Given the description of an element on the screen output the (x, y) to click on. 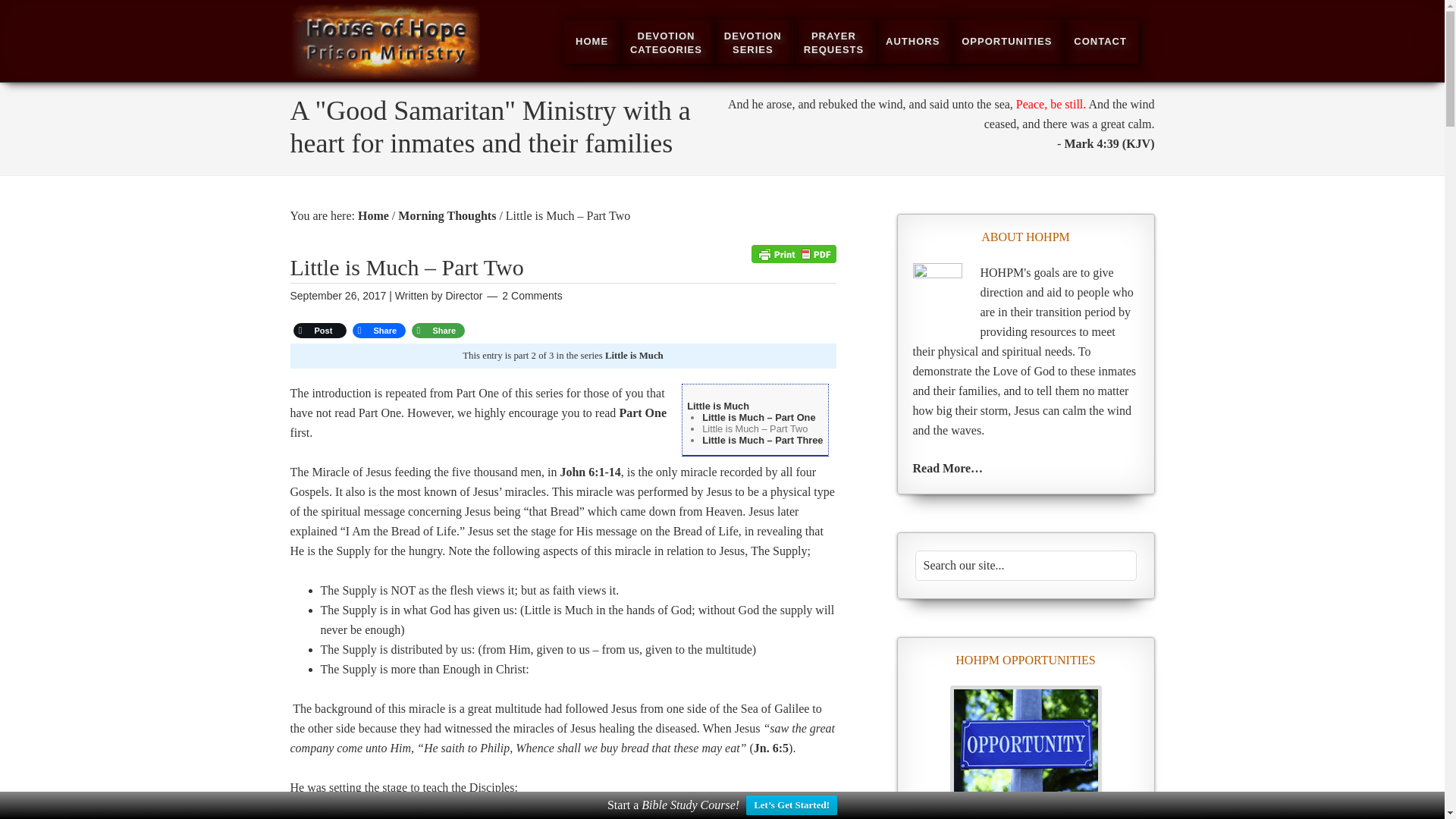
AUTHORS (834, 41)
HOME (912, 41)
Go (592, 41)
House of Hope Prison Ministry (1024, 565)
Posts by Author (384, 68)
Search our site... (912, 41)
Posts by Category (1024, 565)
